Given the description of an element on the screen output the (x, y) to click on. 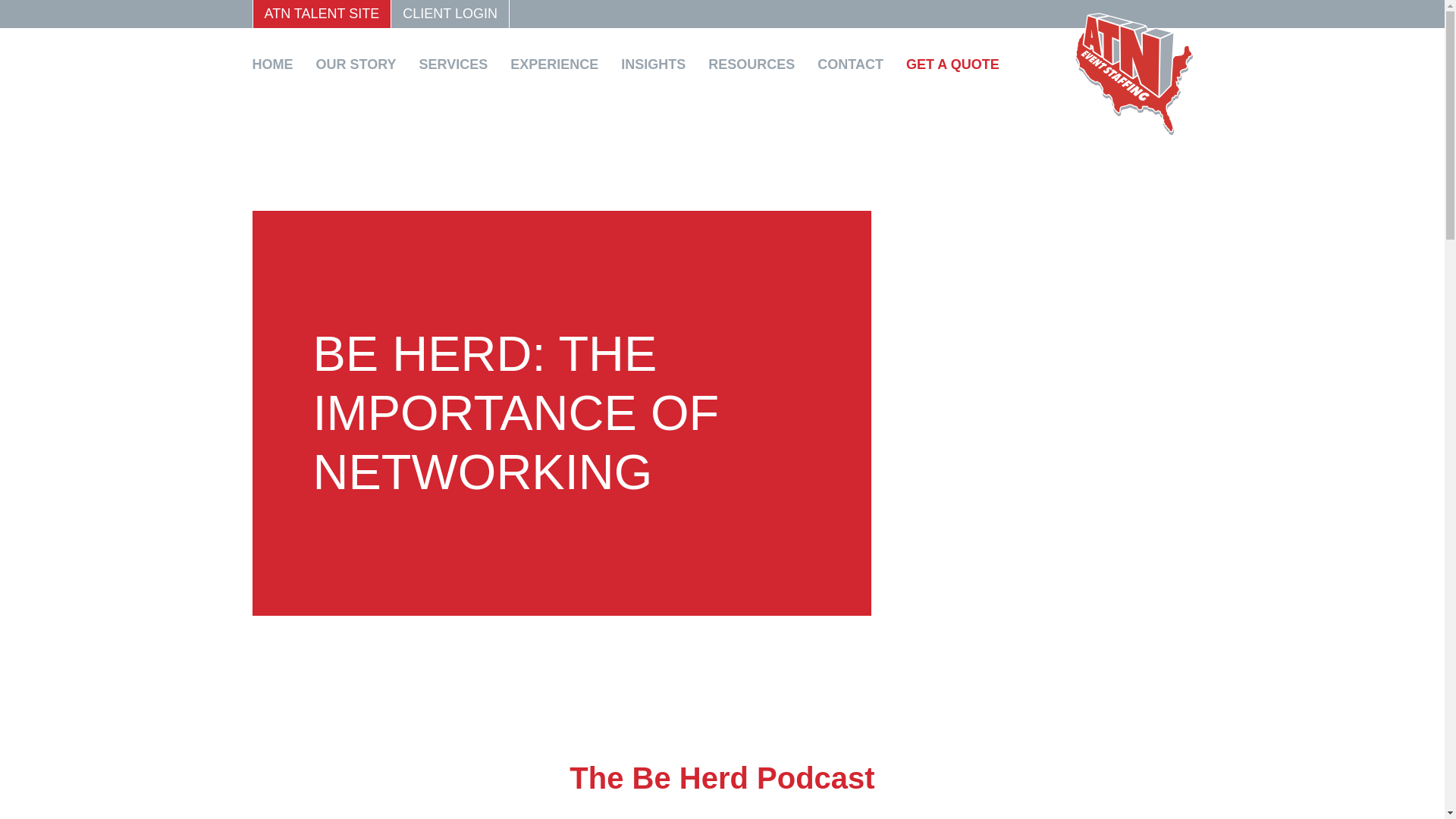
RESOURCES (756, 64)
CLIENT LOGIN (449, 13)
EXPERIENCE (560, 64)
HOME (277, 64)
CONTACT (855, 64)
GET A QUOTE (957, 64)
SERVICES (459, 64)
OUR STORY (361, 64)
ATN TALENT SITE (320, 13)
INSIGHTS (659, 64)
